Given the description of an element on the screen output the (x, y) to click on. 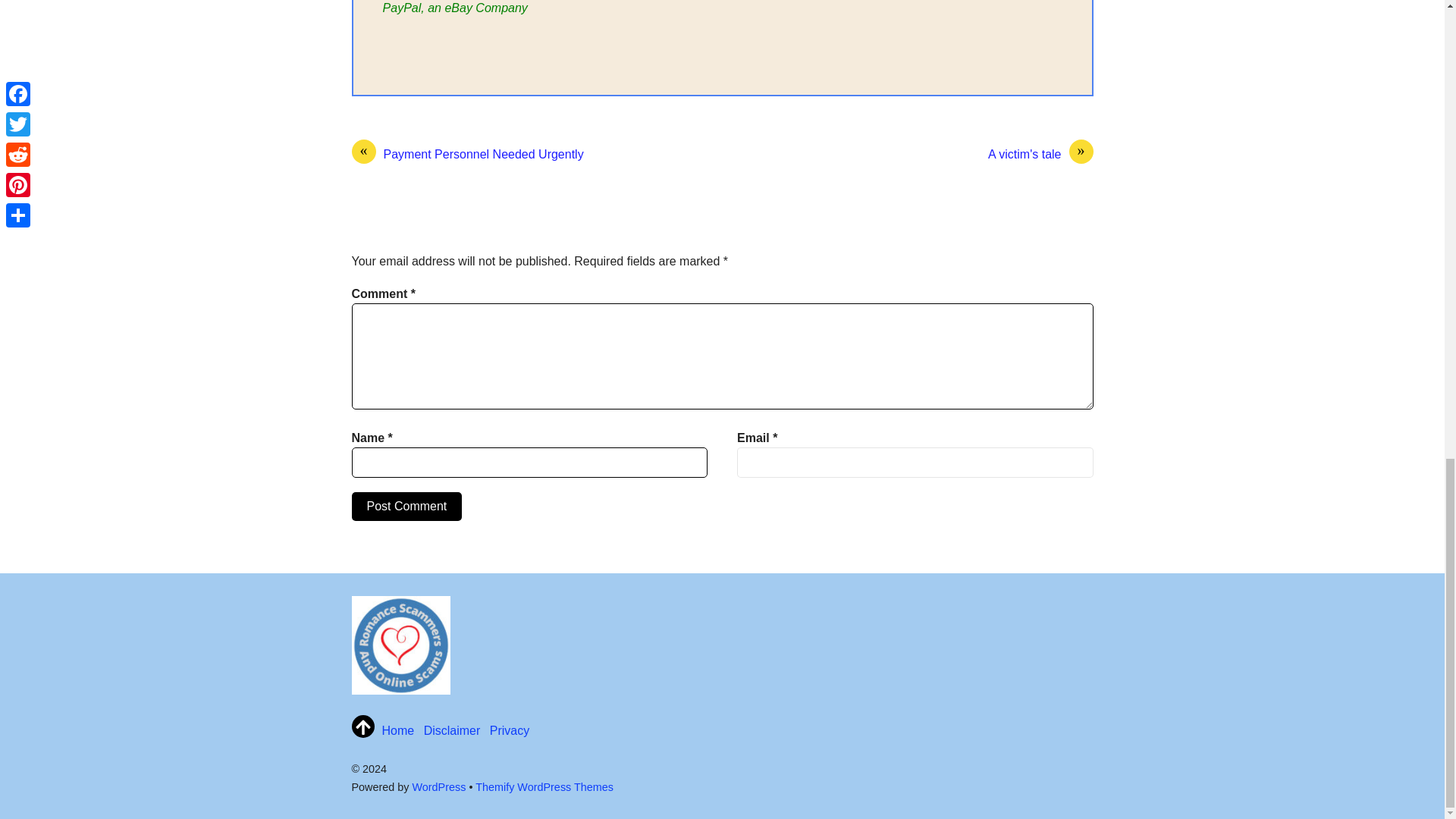
Post Comment (407, 506)
Disclaimer (451, 730)
WordPress (438, 787)
Privacy (509, 730)
Themify WordPress Themes (544, 787)
Home (397, 730)
Post Comment (407, 506)
